Given the description of an element on the screen output the (x, y) to click on. 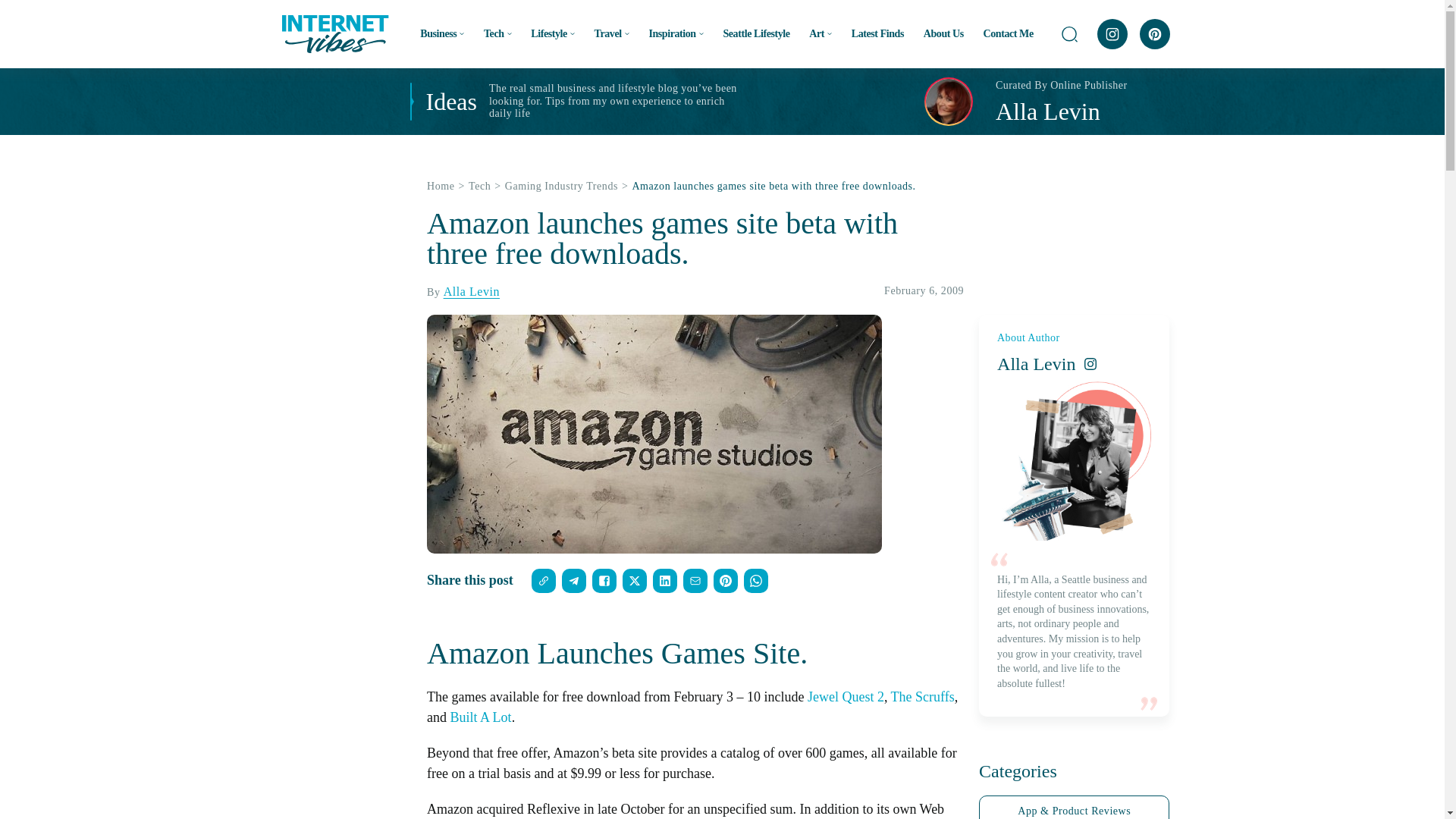
Travel (611, 33)
Tech (497, 33)
Inspiration (675, 33)
Lifestyle (553, 33)
Business (442, 33)
